Given the description of an element on the screen output the (x, y) to click on. 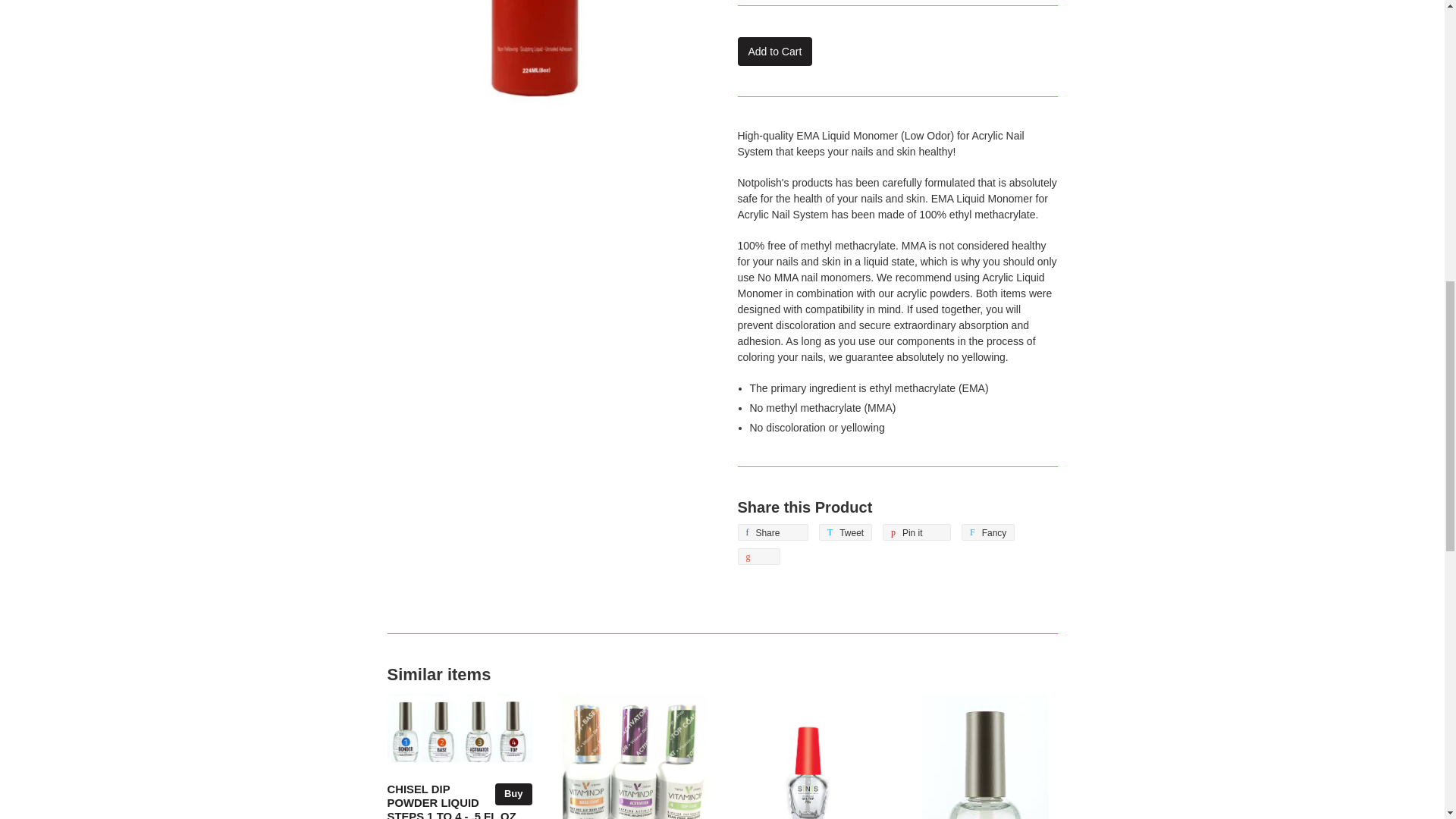
Tweet on Twitter (845, 532)
Pin on Pinterest (916, 532)
Add to Fancy (987, 532)
Share on Facebook (772, 532)
